Given the description of an element on the screen output the (x, y) to click on. 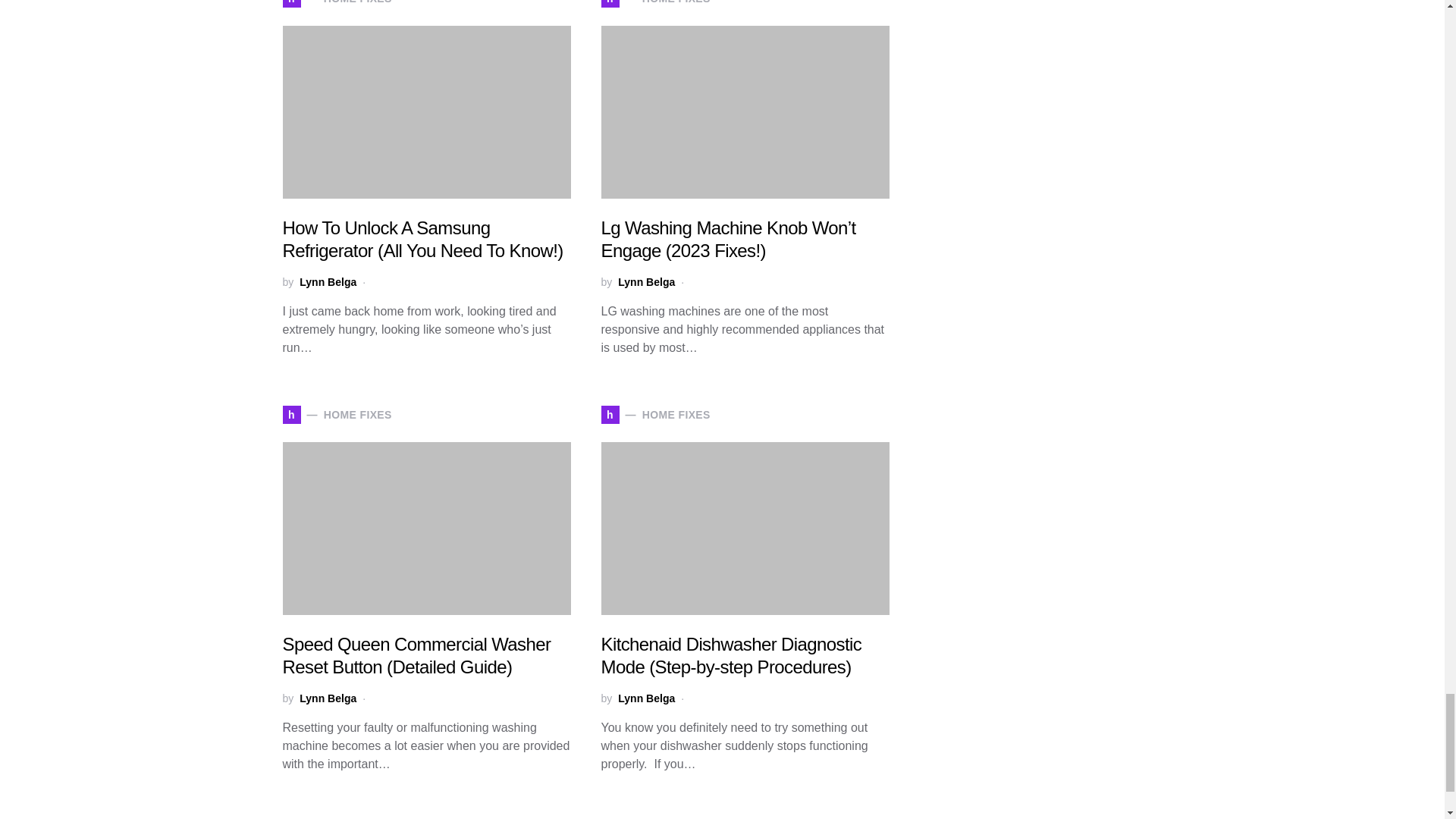
View all posts by Lynn Belga (327, 282)
View all posts by Lynn Belga (646, 282)
View all posts by Lynn Belga (646, 698)
View all posts by Lynn Belga (327, 698)
